Given the description of an element on the screen output the (x, y) to click on. 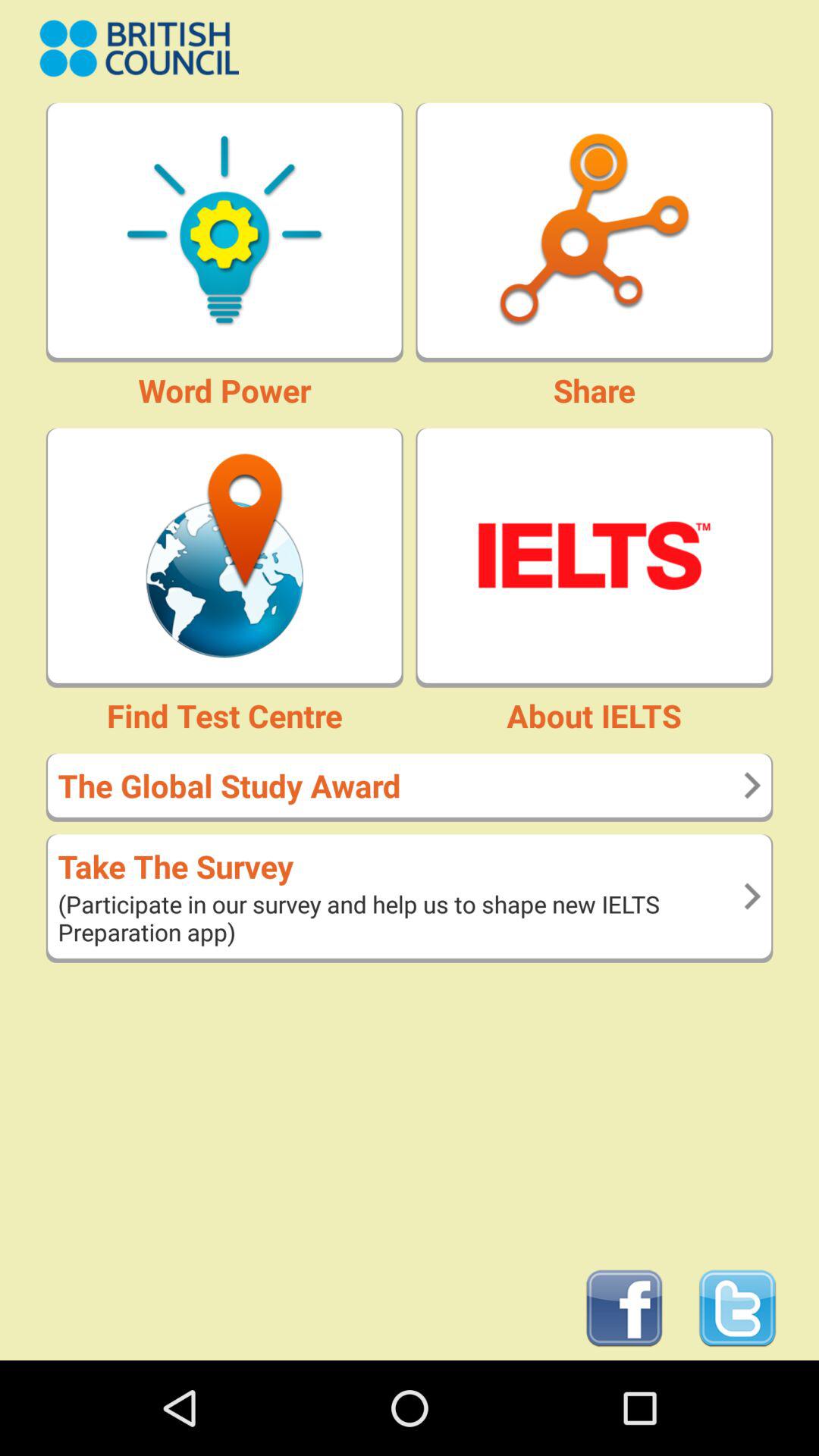
open twitter page (737, 1308)
